Given the description of an element on the screen output the (x, y) to click on. 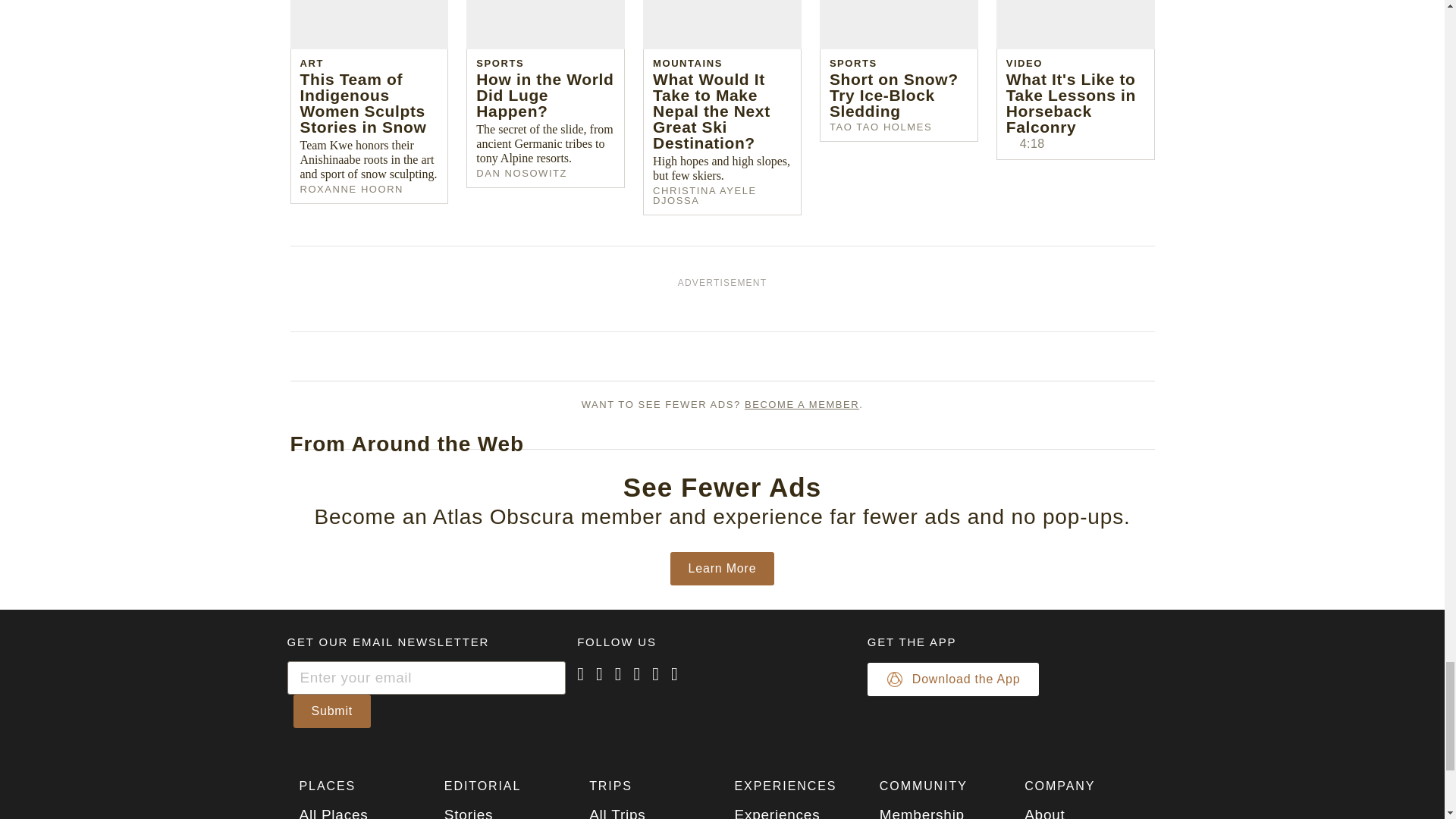
Submit (331, 711)
